Given the description of an element on the screen output the (x, y) to click on. 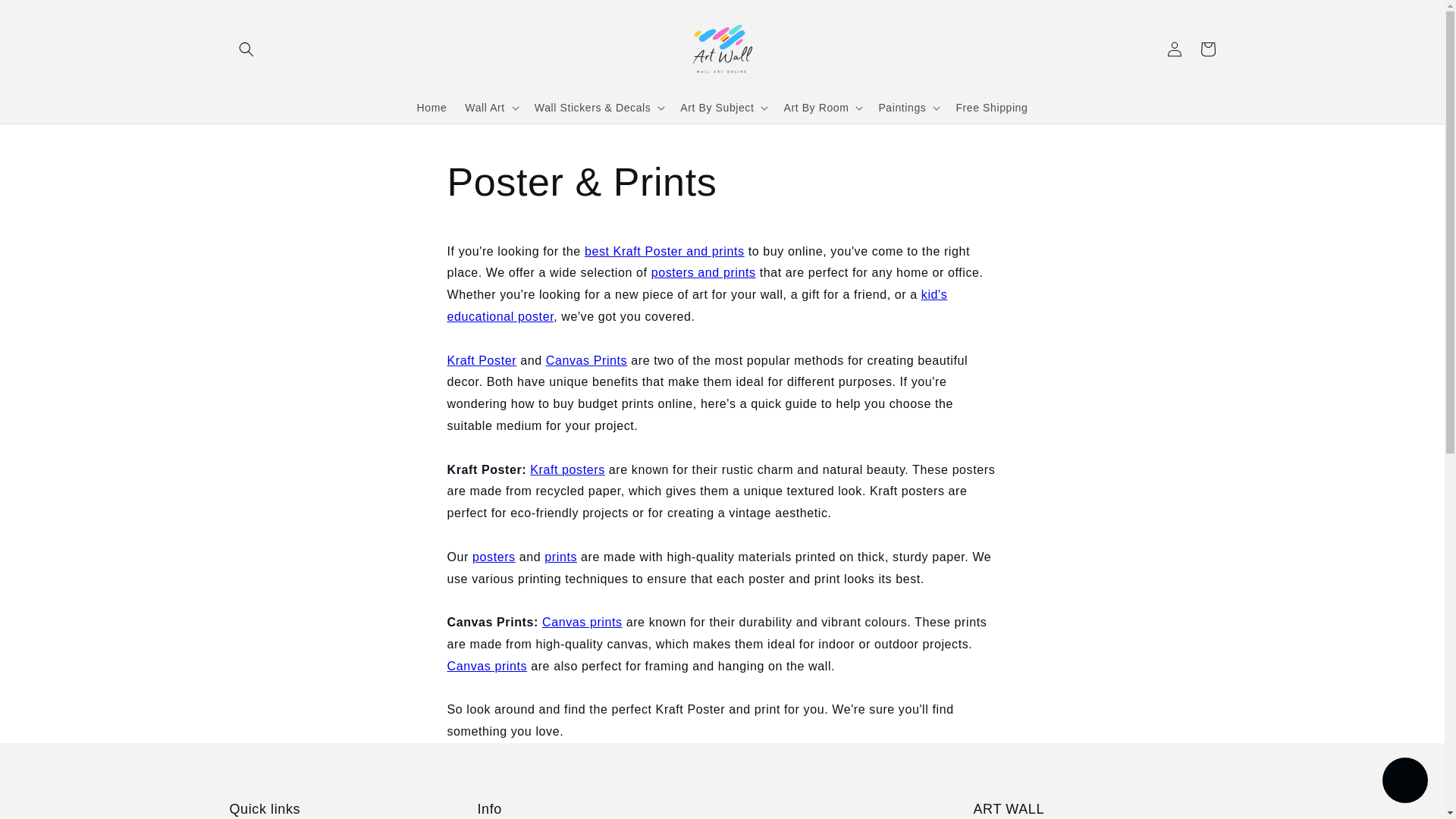
Kid's Room Decor - Poster And Prints  (567, 469)
Vibrant Colours Canvas Prints Online - Wall Art Online  (586, 359)
Sunset Canvas Prints Online - Wall Art (486, 666)
Budget High Quality Kraft Poster - Art Wall Australia  (481, 359)
Framed Prints Australia - Wall Art (560, 556)
Educational Diagram Poster For Kid's - Wall Art (696, 305)
Print On Canvas - Wall Art (582, 621)
Shopify online store chat (1404, 781)
Kraft Poster And Prints Online - Art Wall (664, 250)
Skip to content (45, 17)
